Given the description of an element on the screen output the (x, y) to click on. 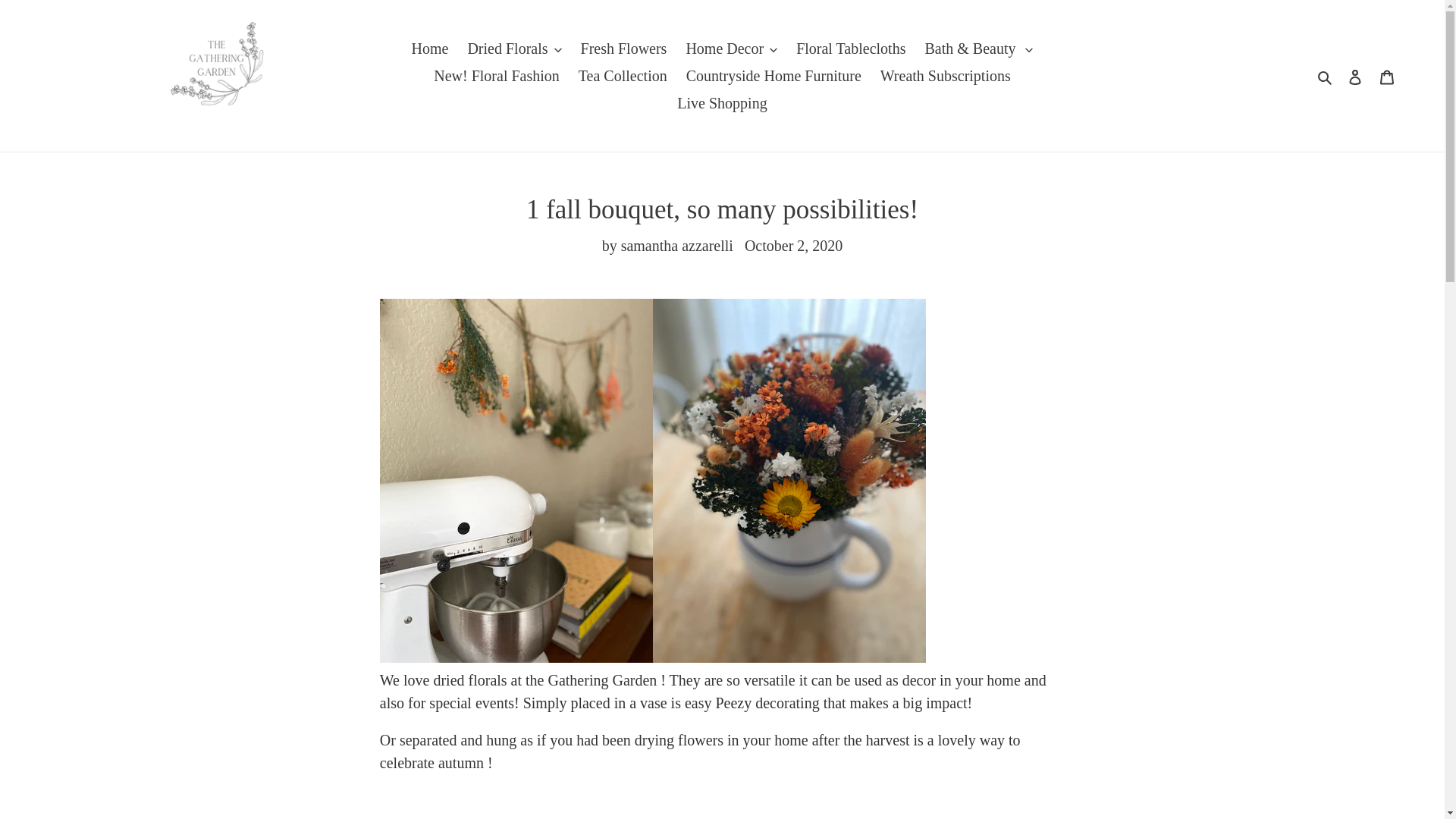
Dried Florals (514, 48)
Live Shopping (721, 103)
Fresh Flowers (624, 48)
Search (1326, 75)
New! Floral Fashion (496, 75)
Floral Tablecloths (850, 48)
Tea Collection (622, 75)
Countryside Home Furniture (773, 75)
Wreath Subscriptions (944, 75)
Home Decor (731, 48)
